Given the description of an element on the screen output the (x, y) to click on. 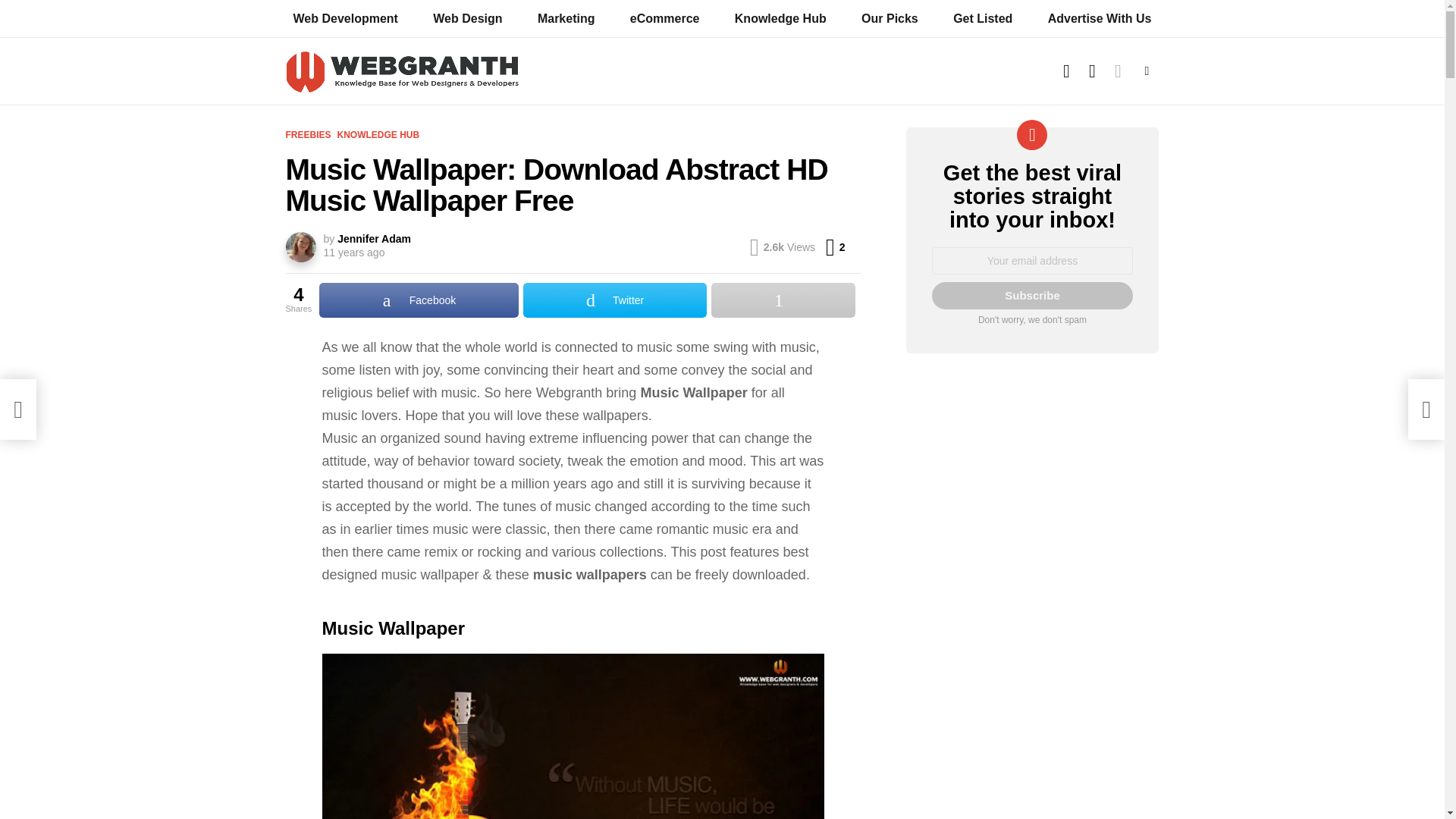
Get Listed (982, 18)
Web Development (344, 18)
Our Picks (889, 18)
Facebook (418, 299)
Marketing (565, 18)
SWITCH SKIN (1117, 71)
LOGIN (834, 247)
Knowledge Hub (1066, 71)
Web Design (780, 18)
Jennifer Adam (467, 18)
July 21, 2013, 12:01 am (373, 238)
Music Wallpaper (347, 252)
SEARCH (572, 736)
Advertise With Us (1091, 71)
